Given the description of an element on the screen output the (x, y) to click on. 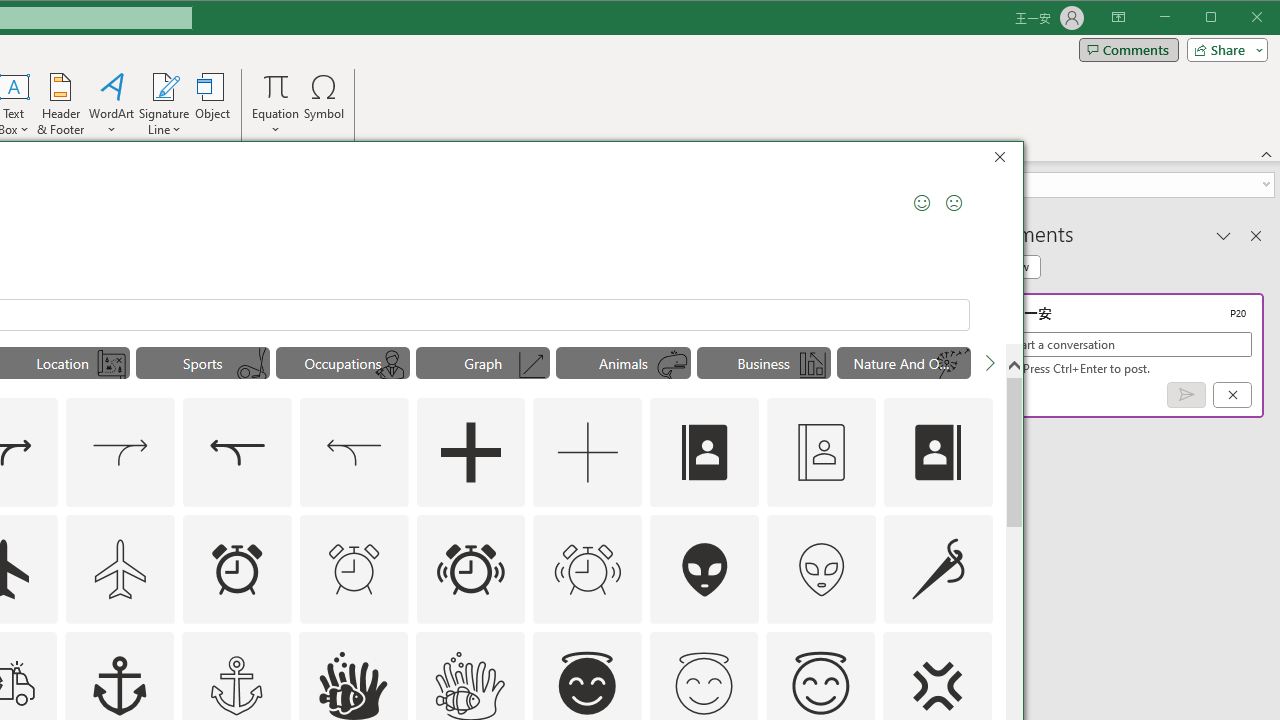
Send a Smile (922, 202)
AutomationID: Icons_Airplane_M (120, 568)
AutomationID: Icons_AlterationsTailoring (938, 568)
Header & Footer... (60, 104)
AutomationID: Icons_Add_M (587, 452)
AutomationID: Icons_AlienFace (705, 568)
AutomationID: Icons_Add (470, 452)
AutomationID: Icons_TreasureMap_M (111, 365)
Symbol... (324, 104)
"Occupations" Icons. (342, 362)
Signature Line (164, 86)
AutomationID: Icons_AddressBook_LTR (705, 452)
Object... (213, 104)
